Given the description of an element on the screen output the (x, y) to click on. 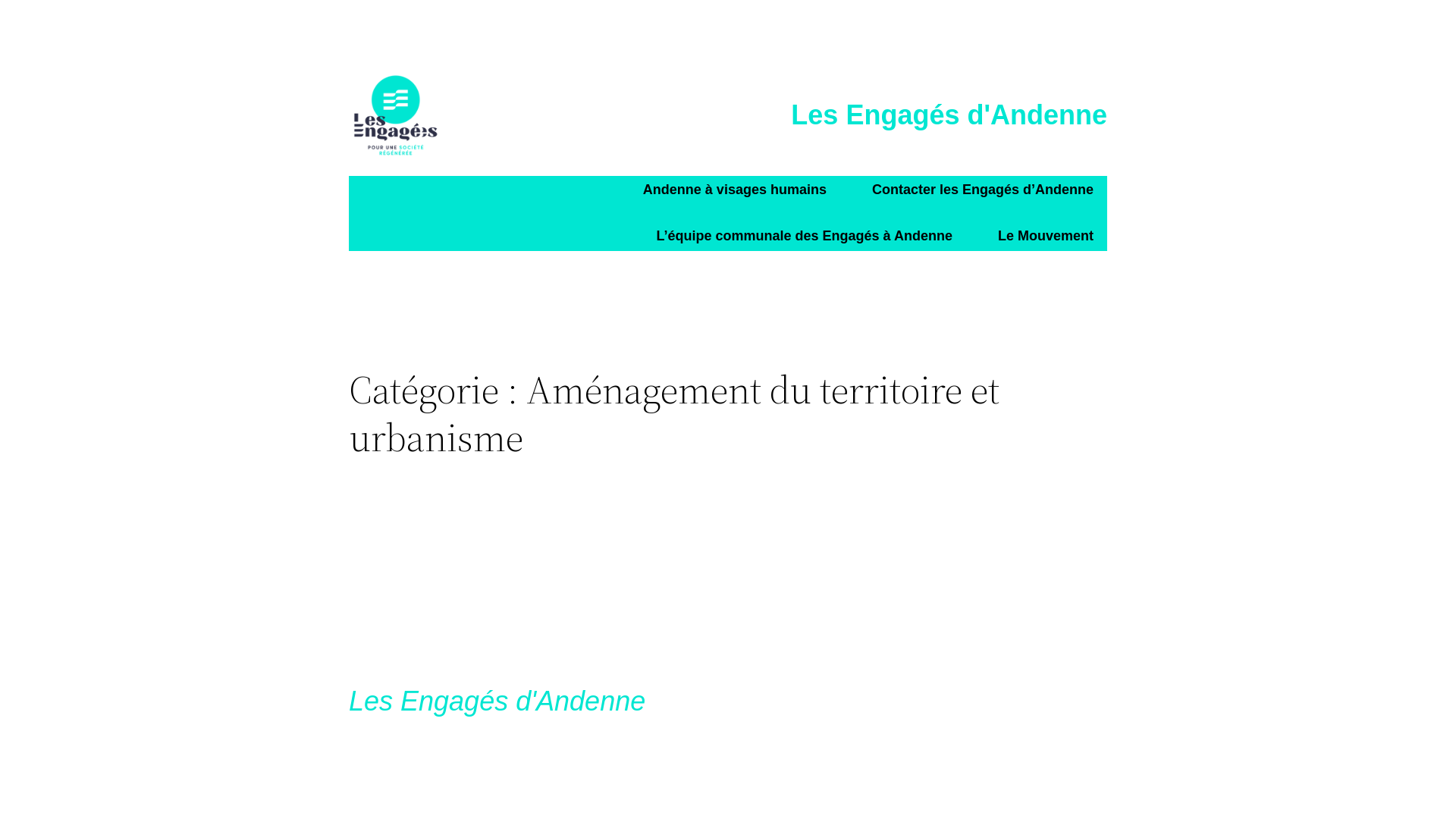
Le Mouvement Element type: text (1045, 236)
